Given the description of an element on the screen output the (x, y) to click on. 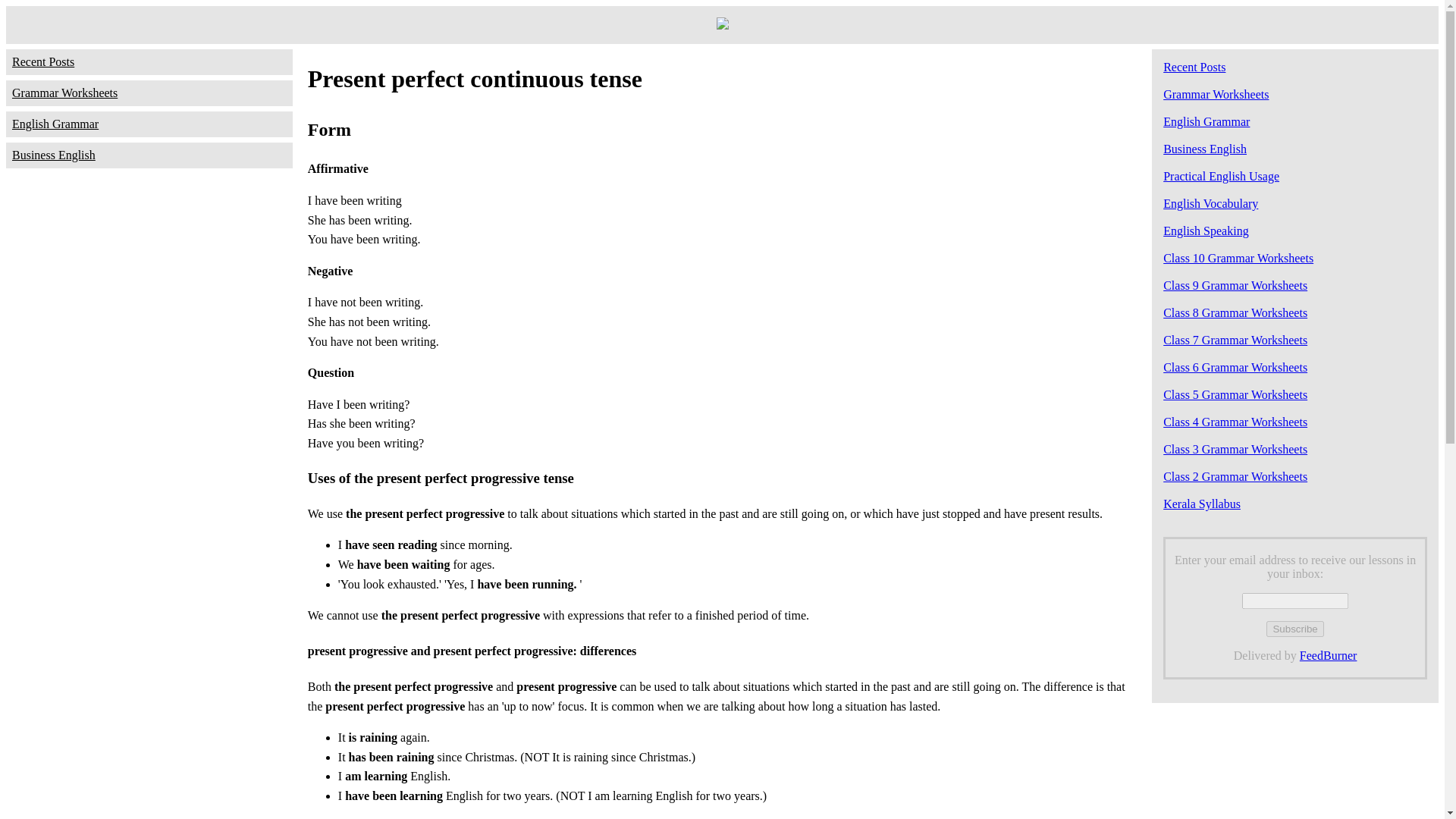
Class 10 Grammar Worksheets (1238, 257)
Class 5 Grammar Worksheets (1235, 394)
English Speaking (1205, 230)
Class 7 Grammar Worksheets (1235, 339)
Class 8 Grammar Worksheets (1235, 312)
English Vocabulary (1210, 203)
Class 3 Grammar Worksheets (1235, 449)
English Grammar (148, 124)
Business English (148, 155)
Grammar Worksheets (1215, 93)
